Given the description of an element on the screen output the (x, y) to click on. 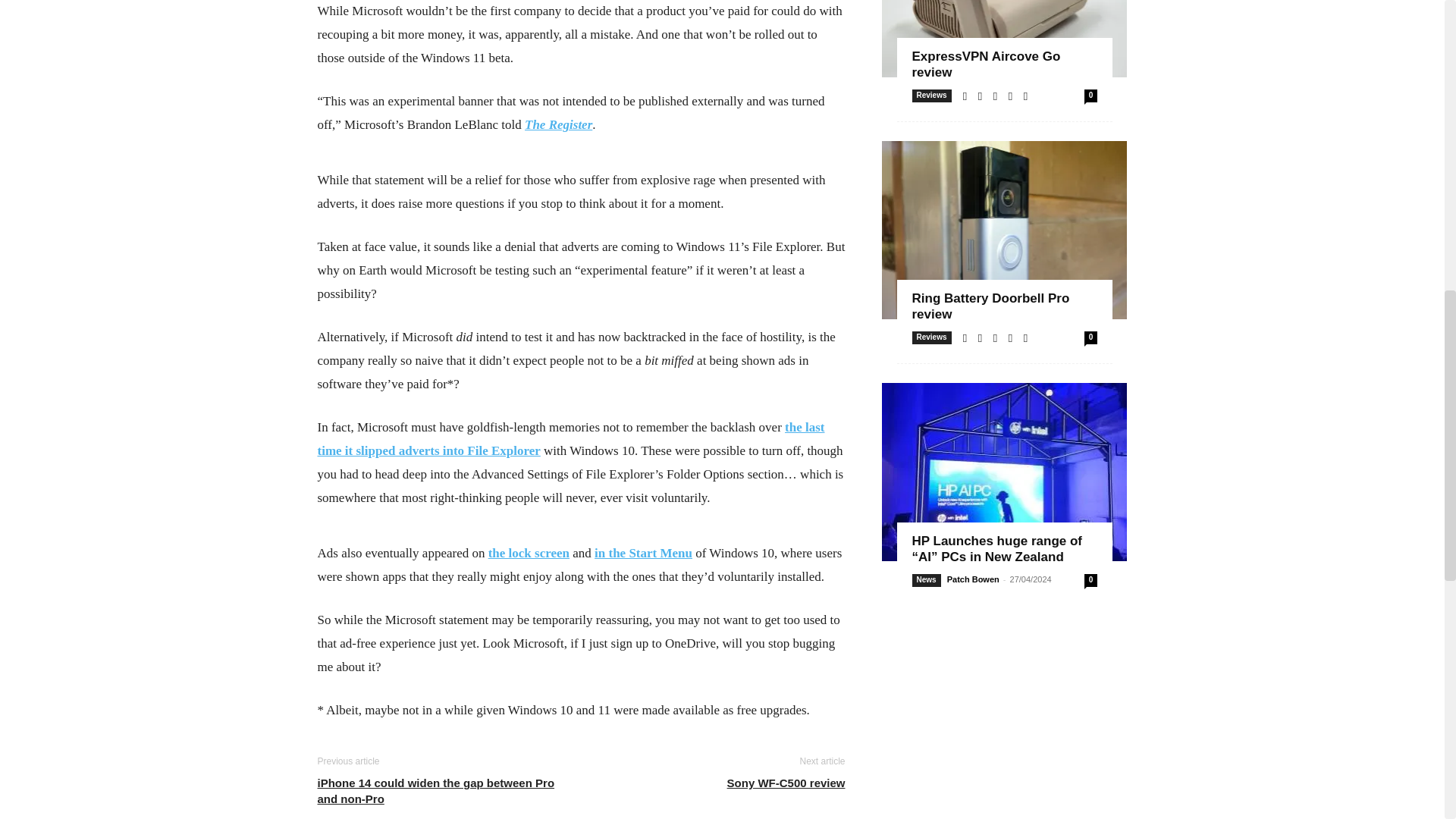
Sony WF-C500 review (785, 782)
the last time it slipped adverts into File Explorer (570, 438)
in the Start Menu (643, 553)
iPhone 14 could widen the gap between Pro and non-Pro (439, 790)
The Register (558, 124)
the lock screen (528, 553)
